Given the description of an element on the screen output the (x, y) to click on. 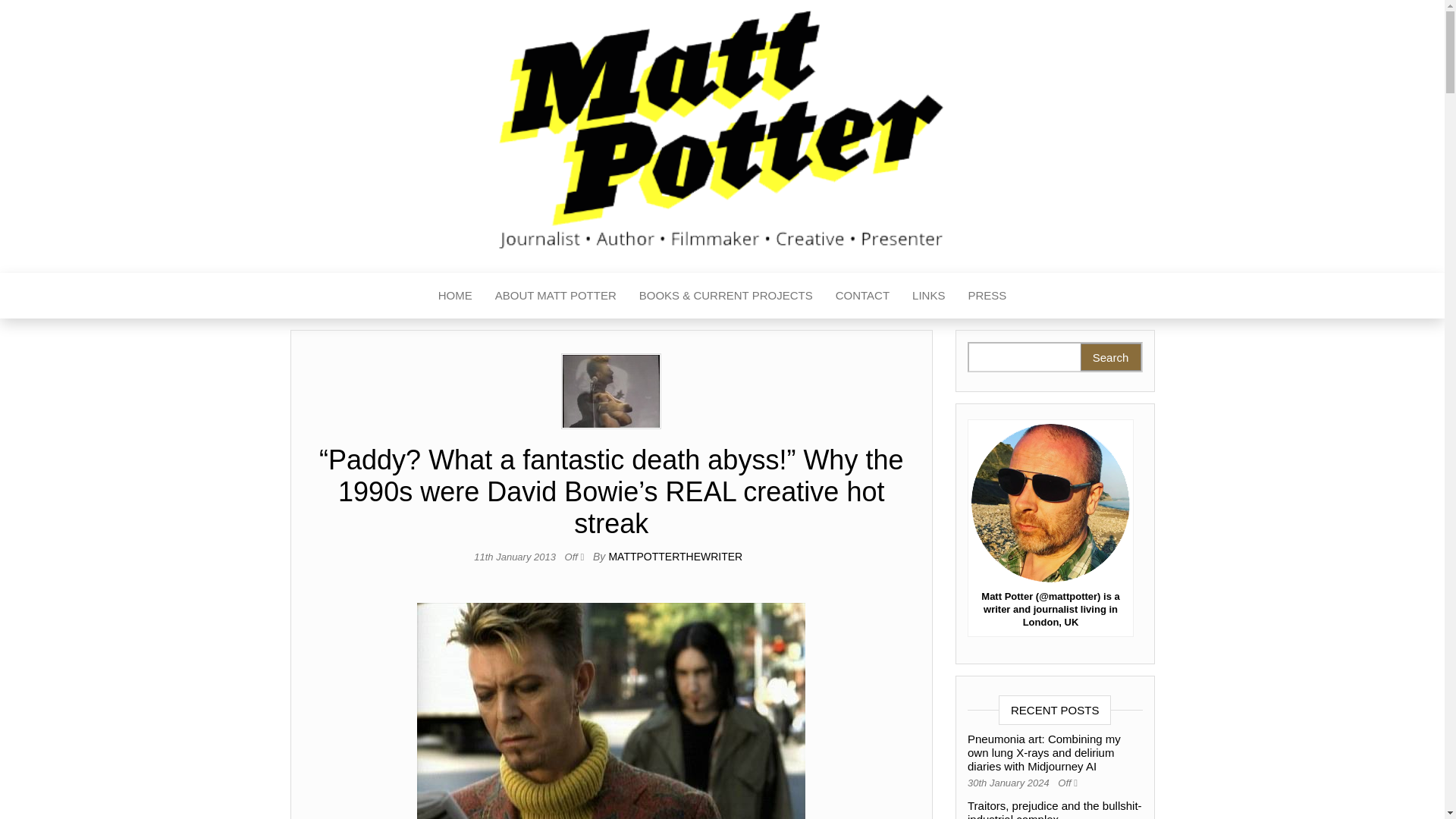
About Matt Potter (555, 295)
MATT POTTER (456, 162)
PRESS (986, 295)
CONTACT (862, 295)
Press (986, 295)
HOME (454, 295)
Links (928, 295)
ABOUT MATT POTTER (555, 295)
Bowie-Reznor (610, 710)
LINKS (928, 295)
Home (454, 295)
MATTPOTTERTHEWRITER (675, 556)
Contact (862, 295)
Search (1110, 357)
